Given the description of an element on the screen output the (x, y) to click on. 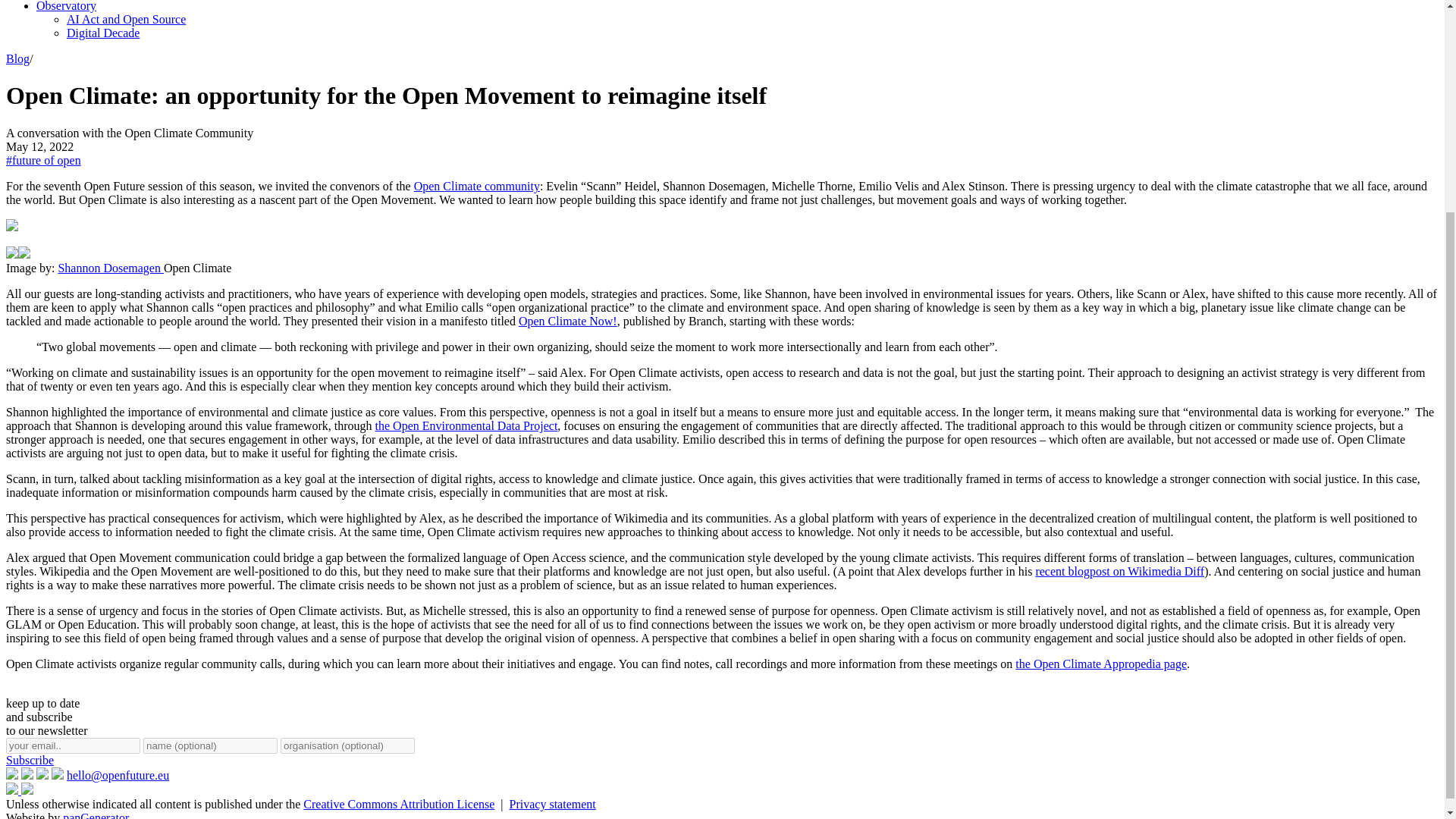
Creative Commons Attribution License (398, 803)
Digital Decade (102, 32)
AI Act and Open Source (126, 19)
Observatory (66, 6)
Privacy statement (552, 803)
recent blogpost on Wikimedia Diff (1119, 571)
Shannon Dosemagen (110, 267)
Open Climate community (476, 185)
the Open Environmental Data Project (466, 425)
Subscribe (29, 759)
Blog (17, 58)
the Open Climate Appropedia page (1100, 663)
Open Climate Now! (567, 320)
